Given the description of an element on the screen output the (x, y) to click on. 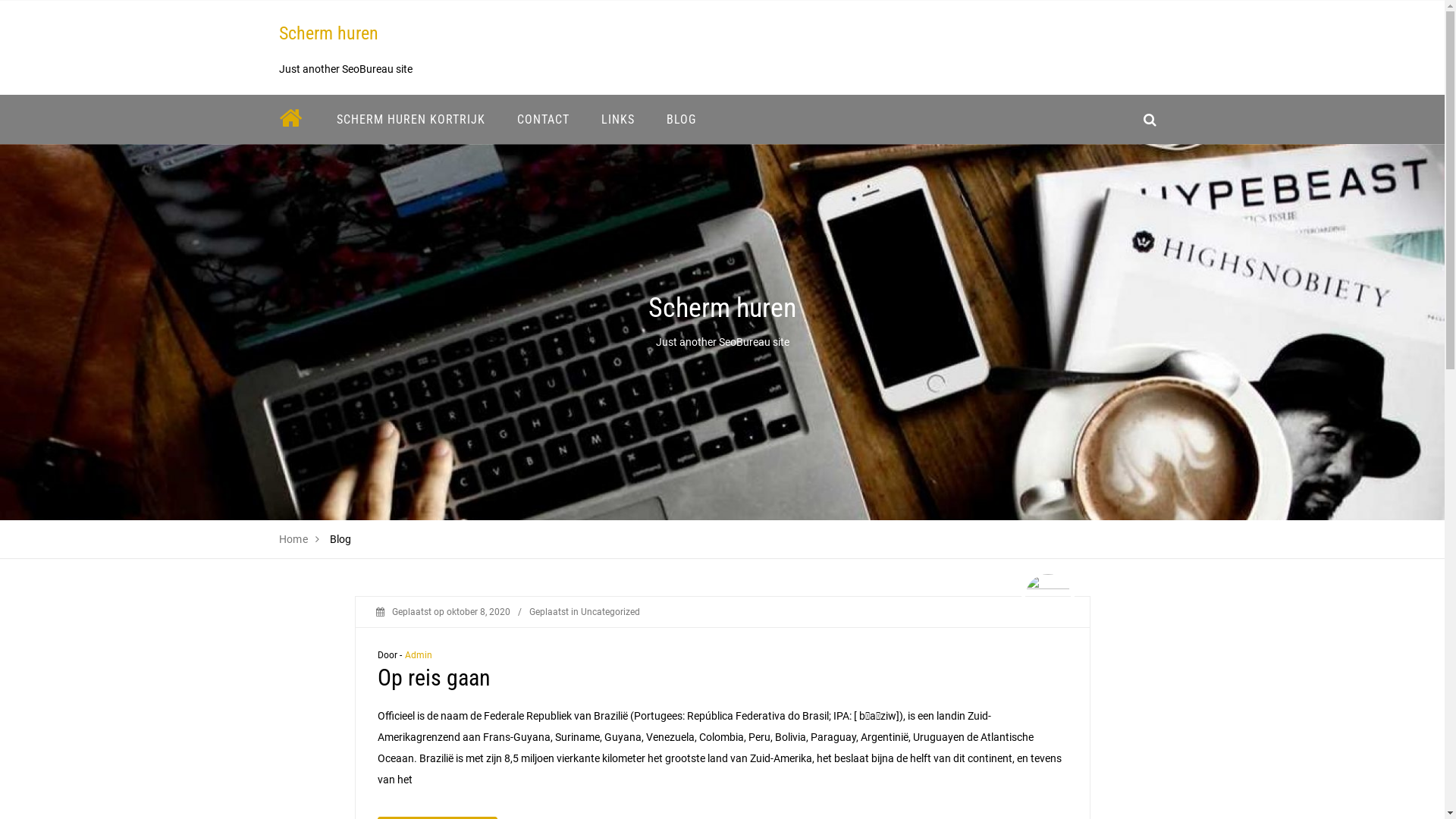
CONTACT Element type: text (542, 119)
search_icon Element type: hover (1148, 119)
SCHERM HUREN KORTRIJK Element type: text (410, 119)
Uncategorized Element type: text (610, 611)
Home Element type: text (293, 539)
Op reis gaan Element type: text (433, 677)
BLOG Element type: text (681, 119)
Scherm huren Element type: text (328, 32)
LINKS Element type: text (617, 119)
Admin Element type: text (418, 654)
